Given the description of an element on the screen output the (x, y) to click on. 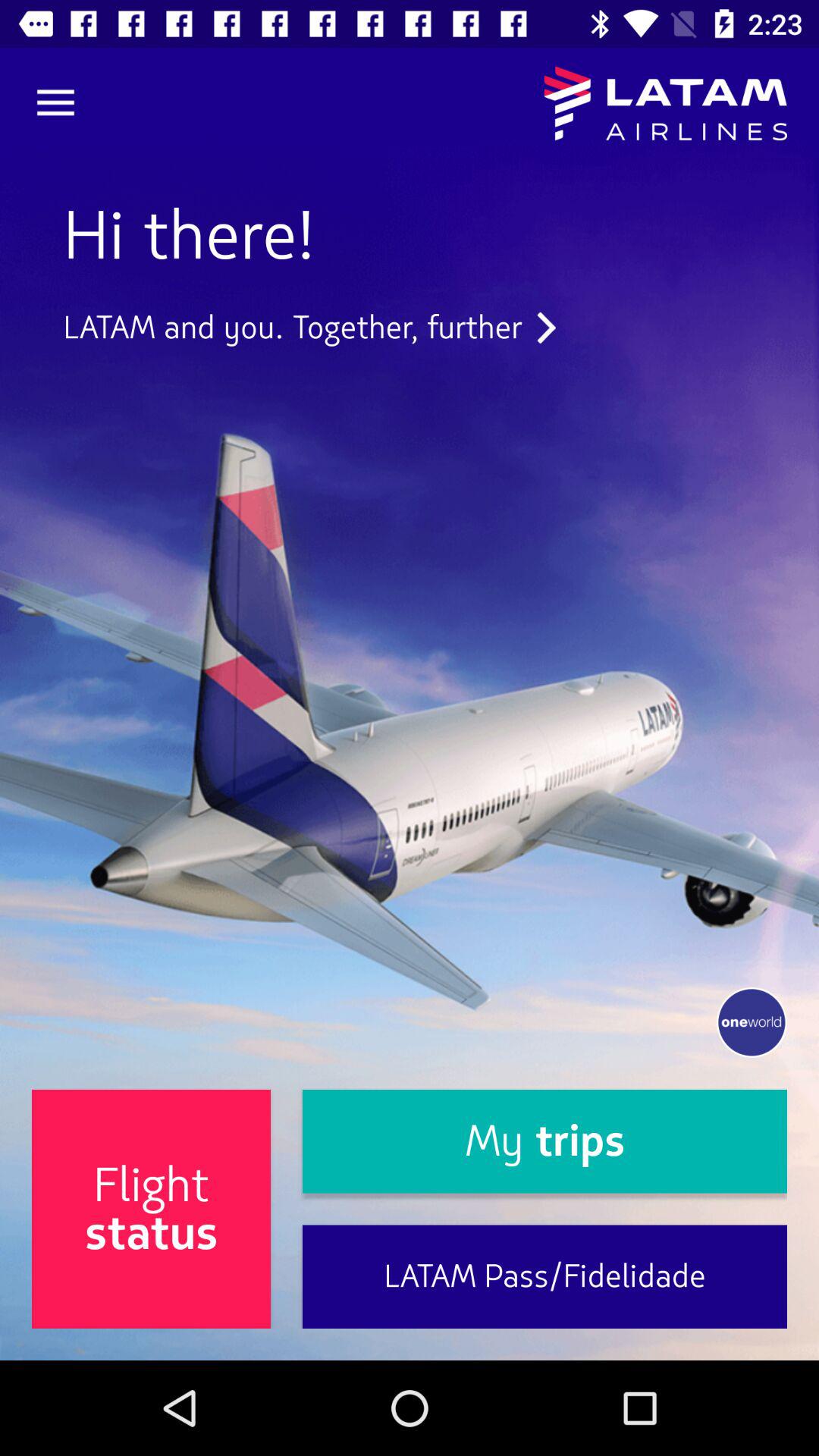
scroll until latam and you icon (309, 327)
